Given the description of an element on the screen output the (x, y) to click on. 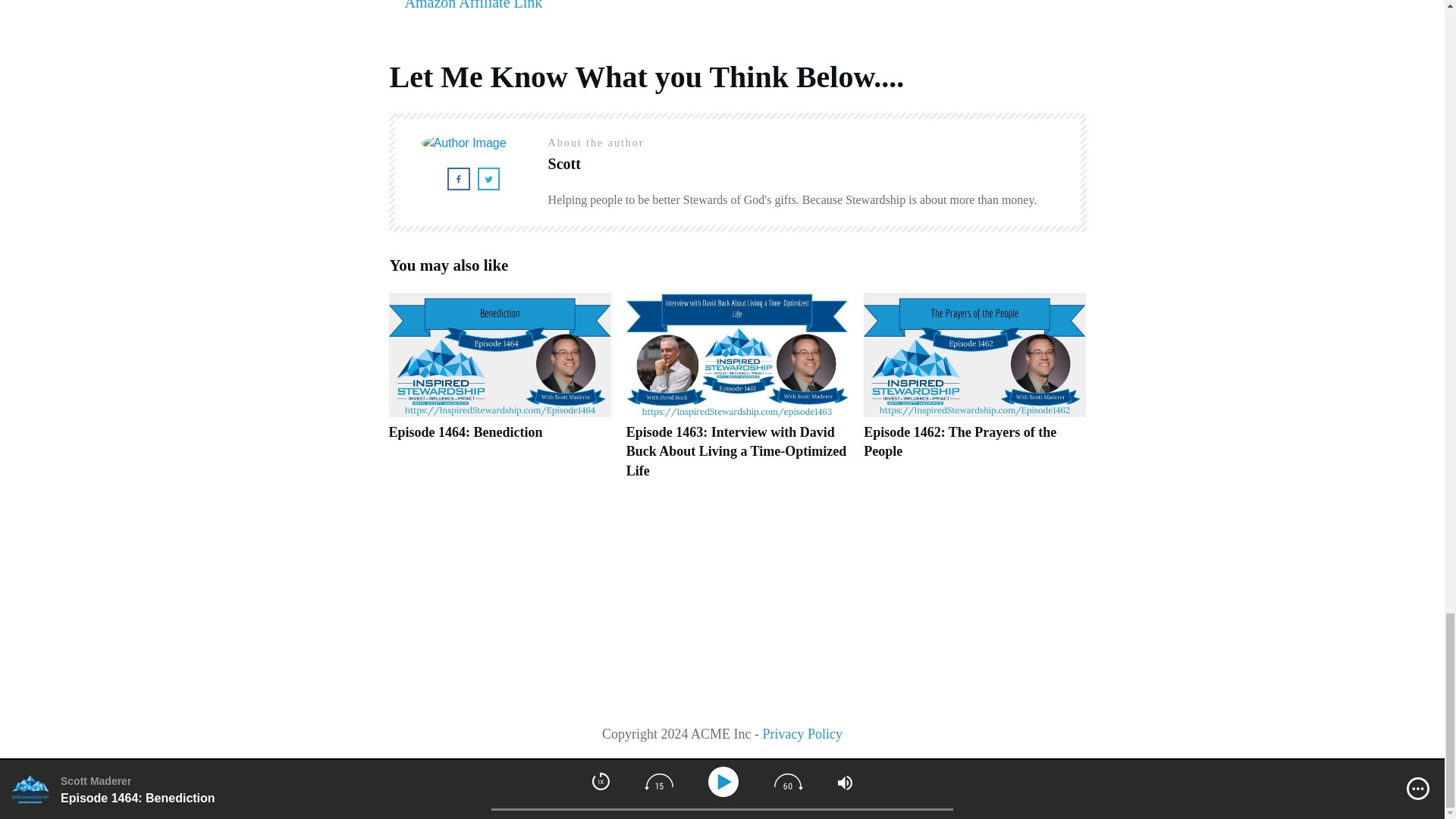
Amazon Affiliate Link (473, 5)
Episode 1464: Benediction (499, 394)
Episode 1462: The Prayers of the People (960, 441)
Episode 1462: The Prayers of the People (974, 394)
Episode 1464: Benediction (464, 432)
Episode 1462: The Prayers of the People (960, 441)
Episode 1464: Benediction (464, 432)
